Given the description of an element on the screen output the (x, y) to click on. 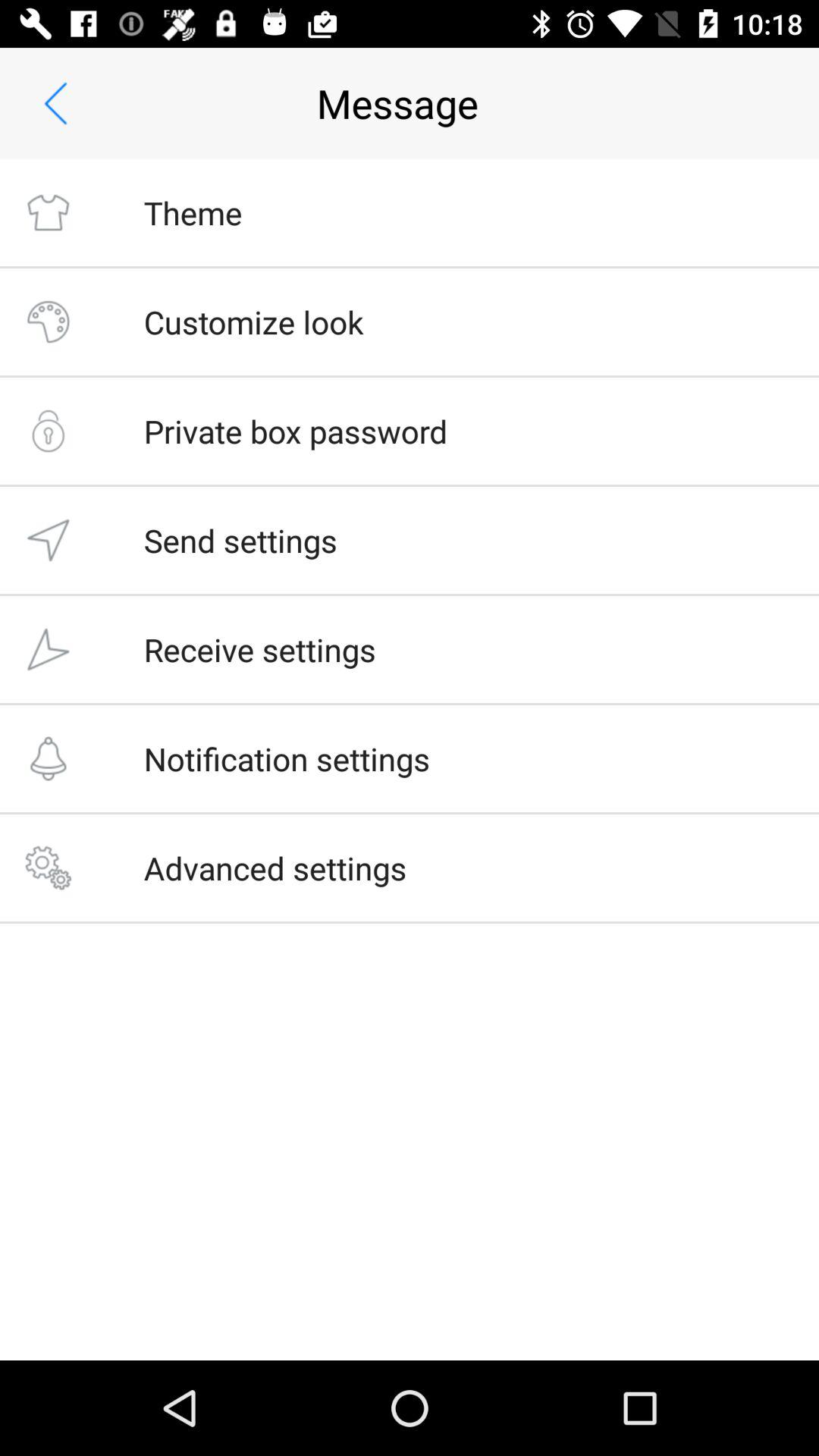
click on the icon of receive settings (48, 650)
click on the icon next to notification settings (48, 759)
click on the icon which is left to advanced settings (48, 868)
select the lock icon (48, 430)
select on second icon from the top (48, 321)
